Given the description of an element on the screen output the (x, y) to click on. 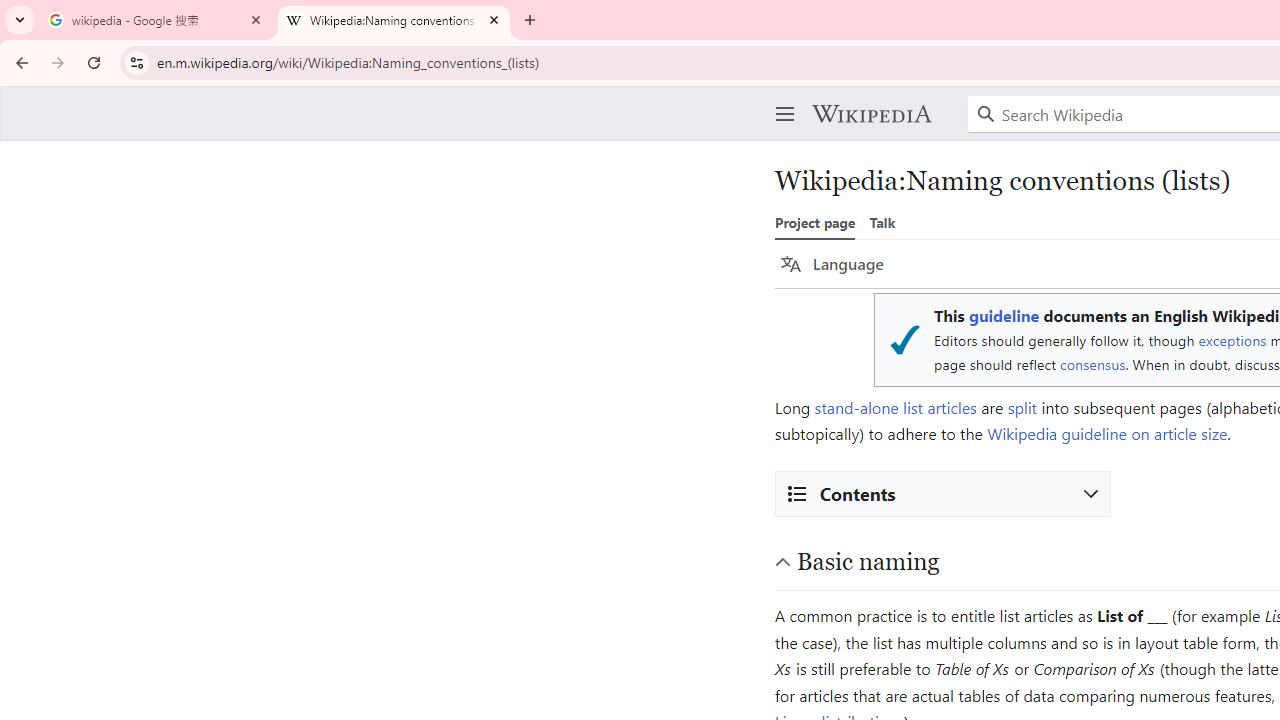
stand-alone list articles (895, 407)
guideline (1003, 315)
Language (832, 264)
Project page (815, 222)
exceptions (1232, 340)
Blue tick (904, 339)
Talk (882, 222)
AutomationID: main-menu-input (781, 98)
Wikipedia:Naming conventions (lists) - Wikipedia (394, 20)
